Given the description of an element on the screen output the (x, y) to click on. 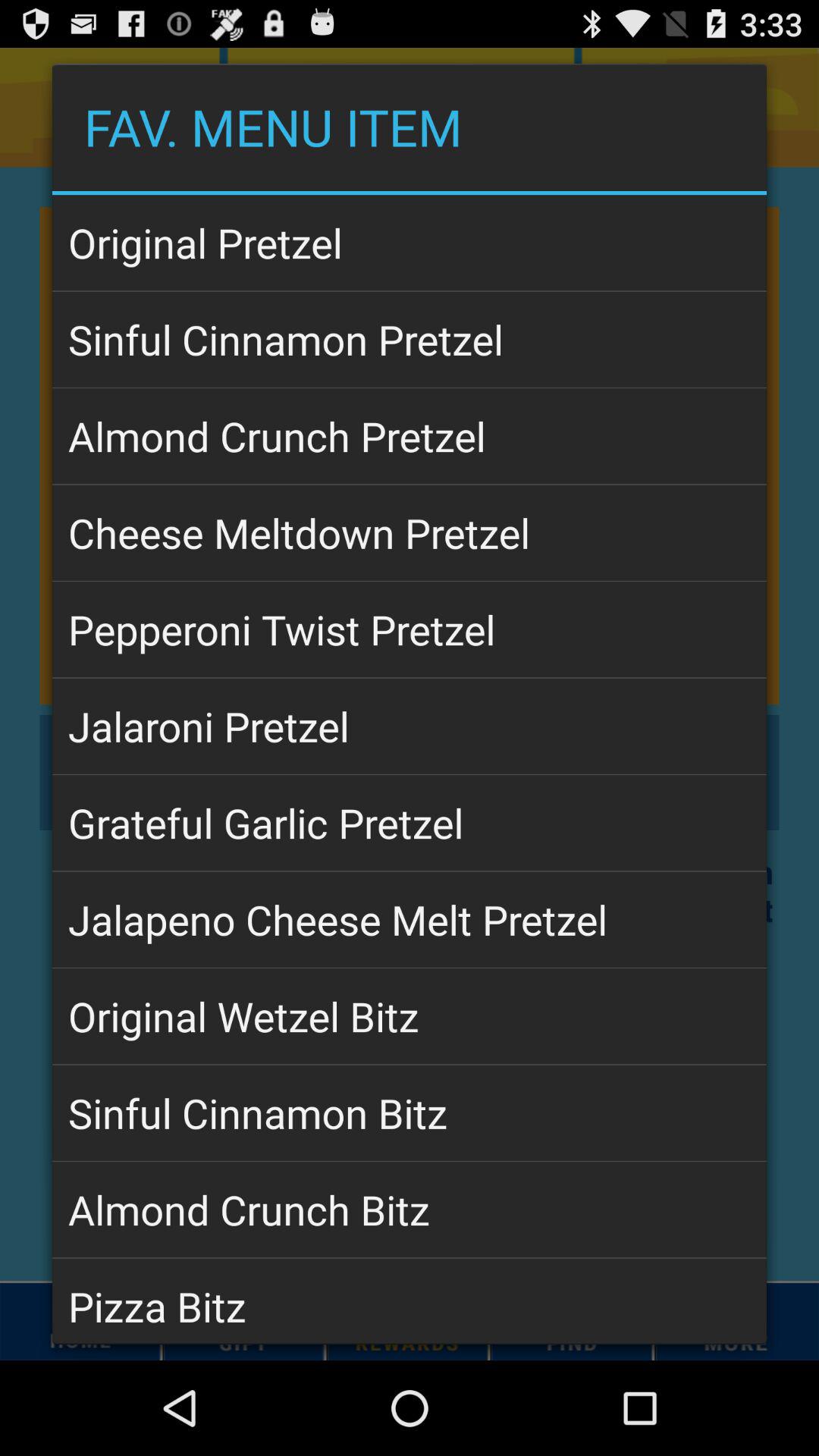
press the app below cheese meltdown pretzel item (409, 629)
